Given the description of an element on the screen output the (x, y) to click on. 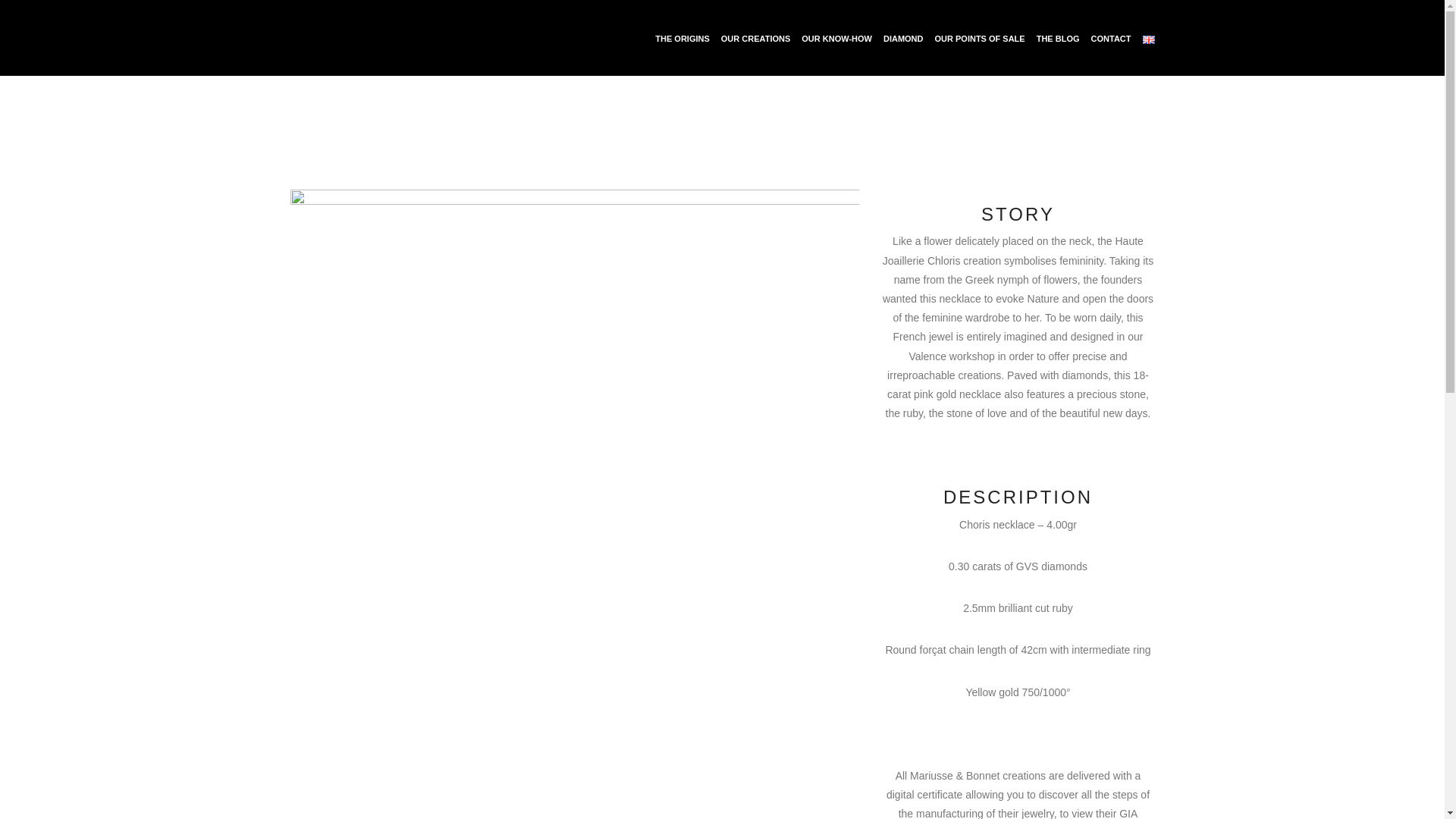
THE BLOG (1058, 38)
OUR POINTS OF SALE (979, 38)
DIAMOND (903, 38)
OUR CREATIONS (755, 38)
CONTACT (1110, 38)
THE ORIGINS (682, 38)
OUR KNOW-HOW (837, 38)
